Given the description of an element on the screen output the (x, y) to click on. 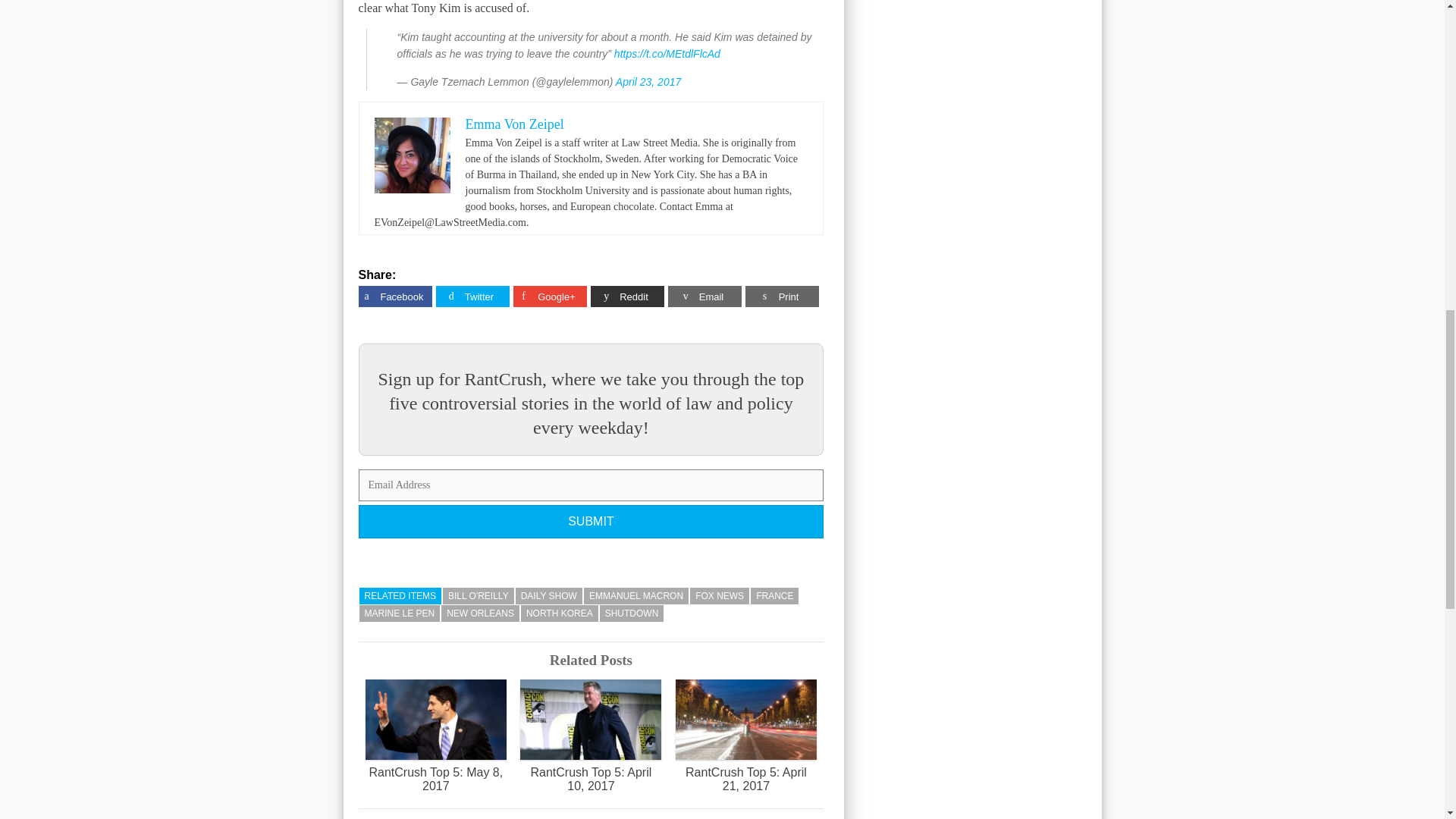
Submit (591, 521)
